Given the description of an element on the screen output the (x, y) to click on. 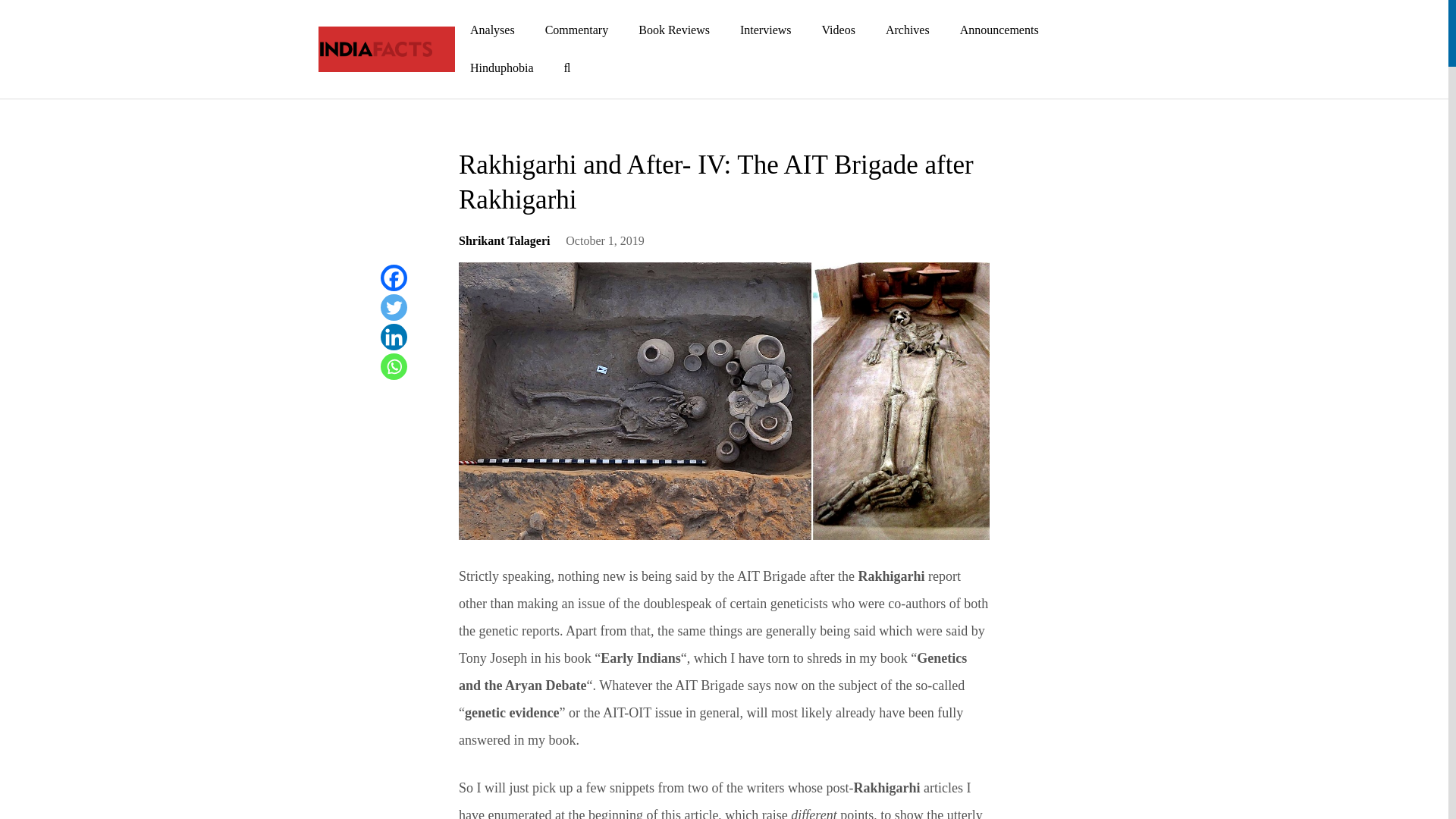
Videos (838, 30)
Interviews (765, 30)
Twitter (393, 307)
Hinduphobia (501, 67)
October 1, 2019 (605, 246)
Announcements (999, 30)
Shrikant Talageri (504, 246)
Facebook (393, 277)
Book Reviews (674, 30)
Linkedin (393, 336)
